Given the description of an element on the screen output the (x, y) to click on. 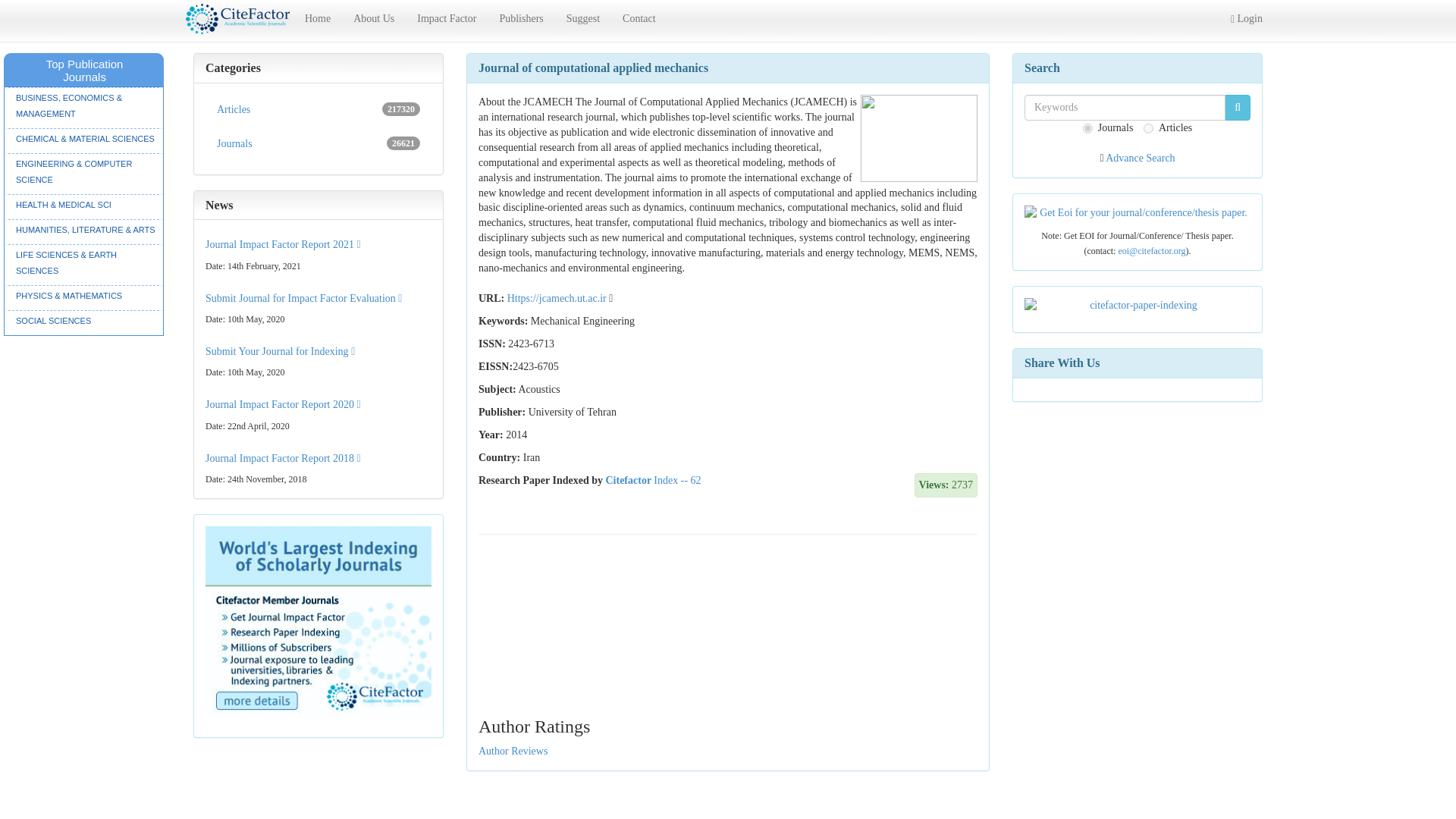
Impact Factor (317, 110)
Index -- 62 (446, 18)
Submit Your Journal for Indexing (676, 480)
Advance Search (317, 143)
About Us (280, 351)
Journal Impact Factor Report 2021 (1139, 157)
journals (374, 18)
Publishers (283, 244)
